Given the description of an element on the screen output the (x, y) to click on. 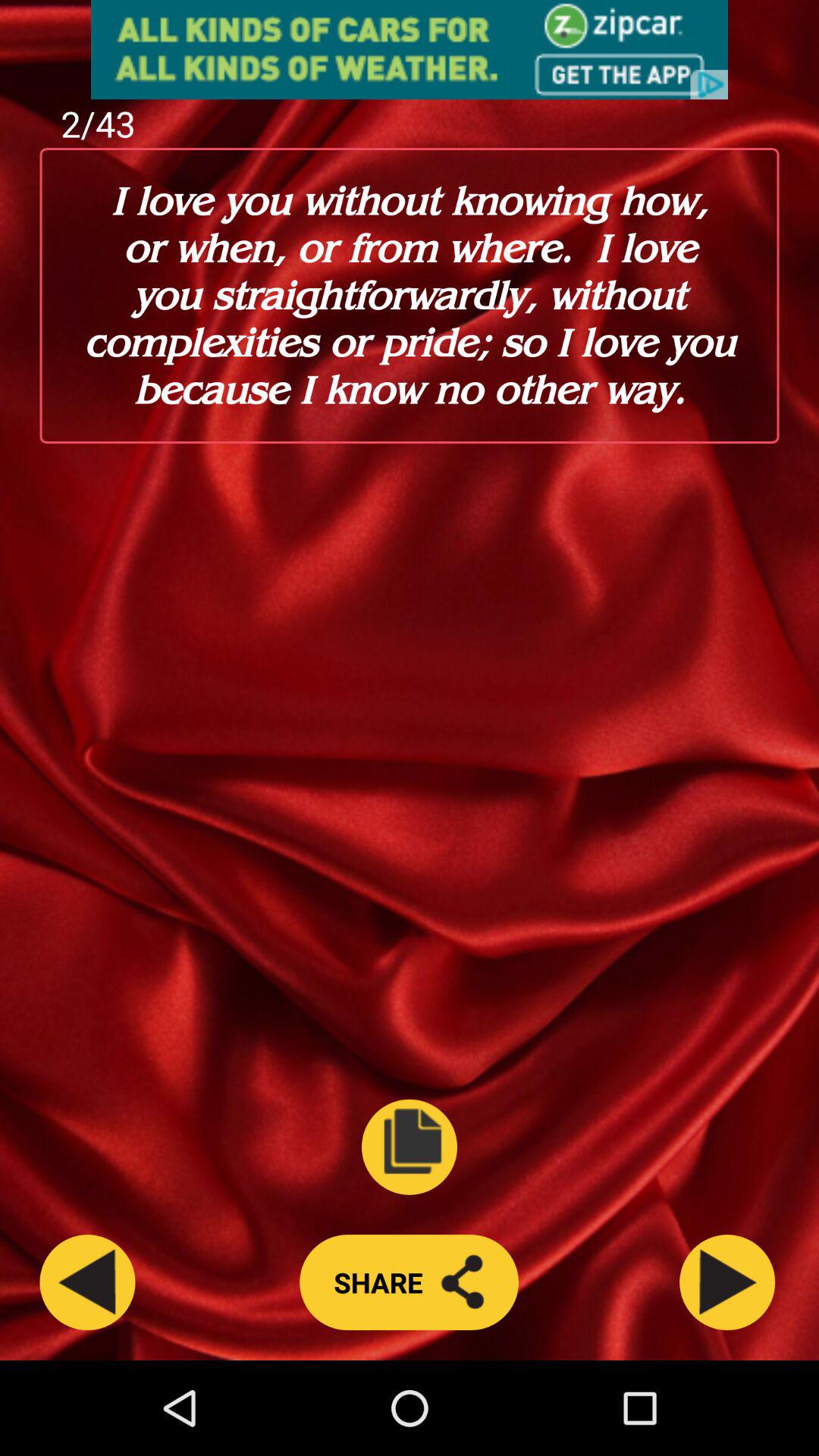
go to previous (87, 1282)
